Given the description of an element on the screen output the (x, y) to click on. 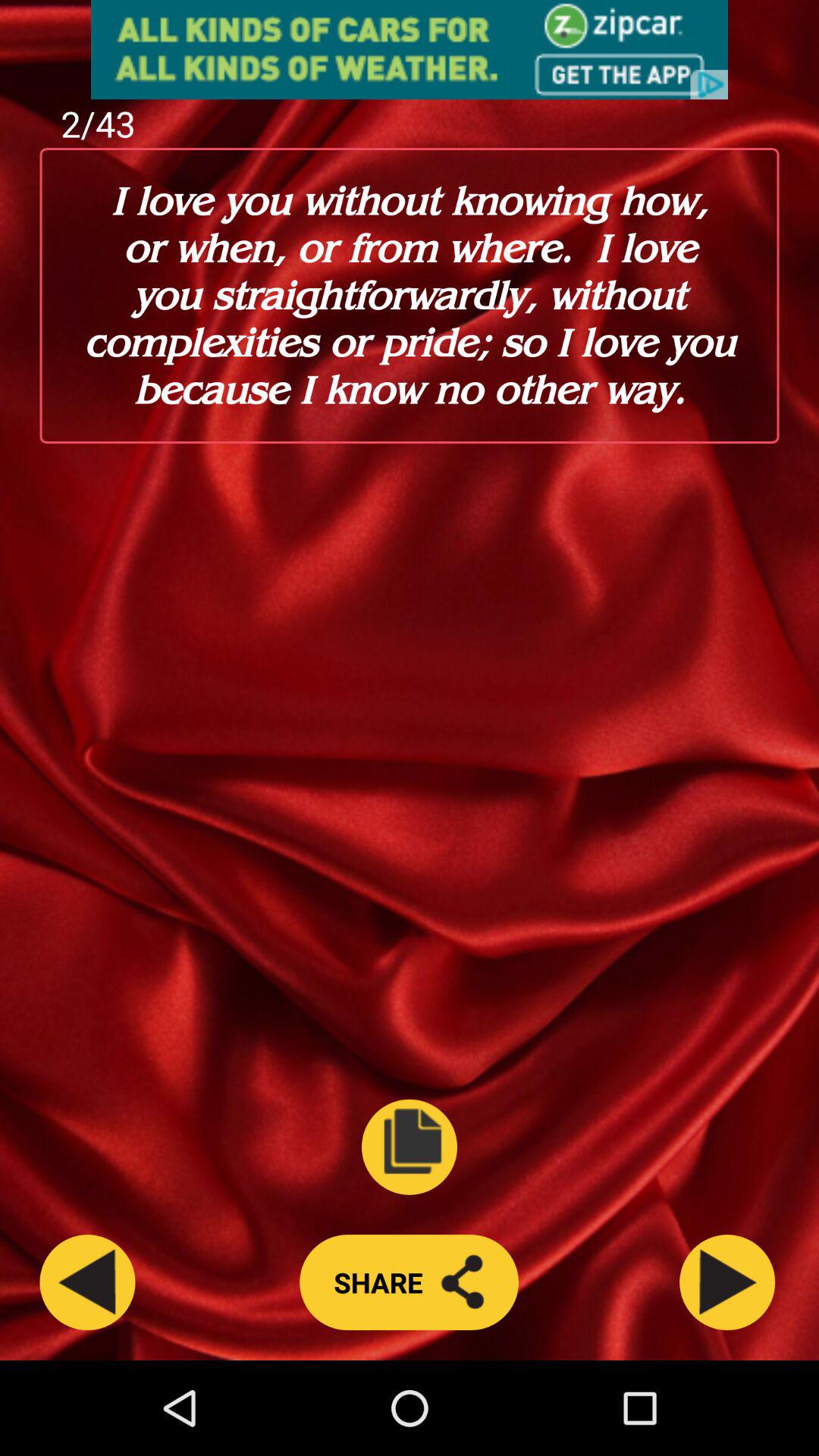
go to previous (87, 1282)
